Given the description of an element on the screen output the (x, y) to click on. 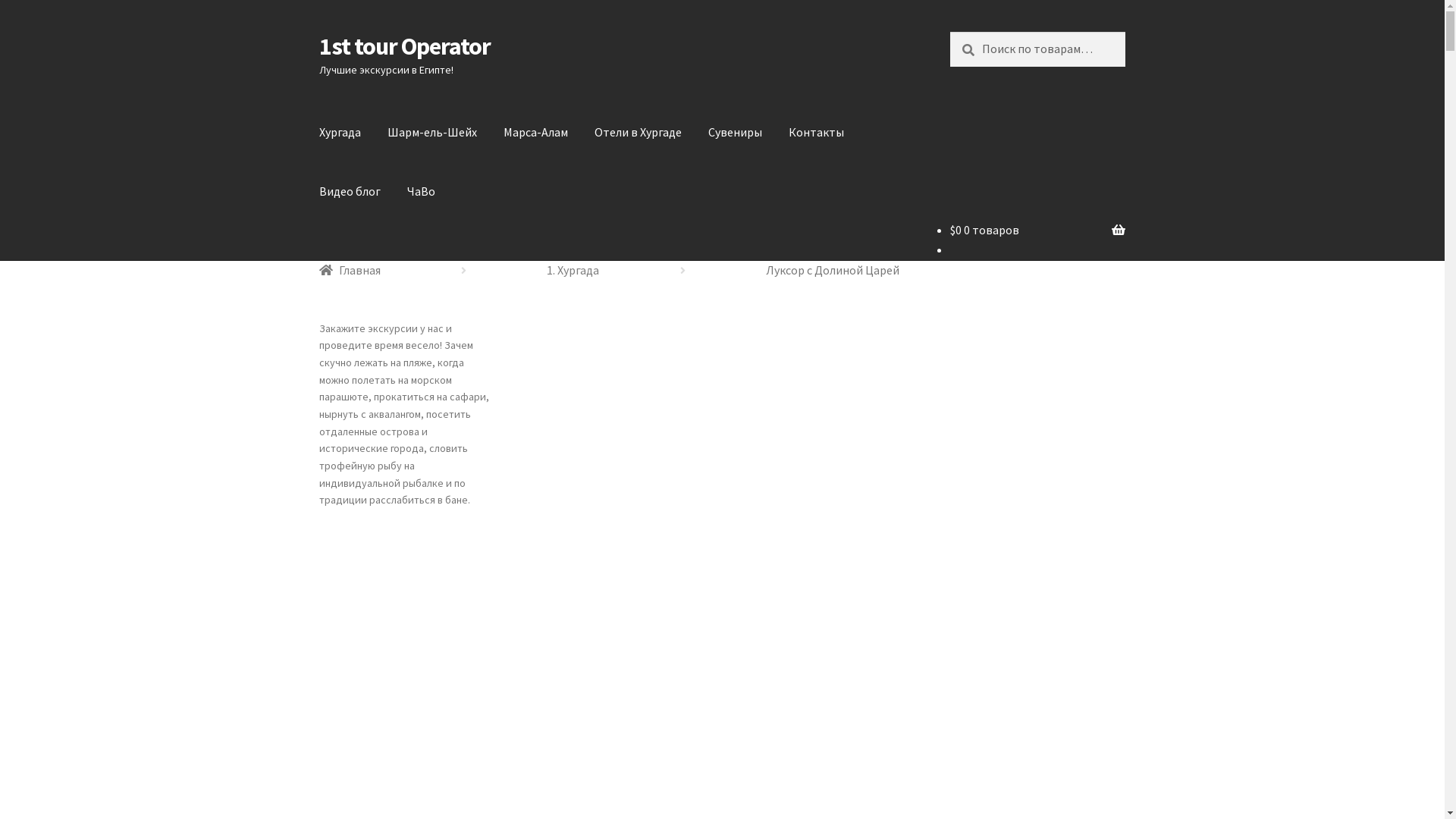
1st tour Operator Element type: text (404, 46)
